Given the description of an element on the screen output the (x, y) to click on. 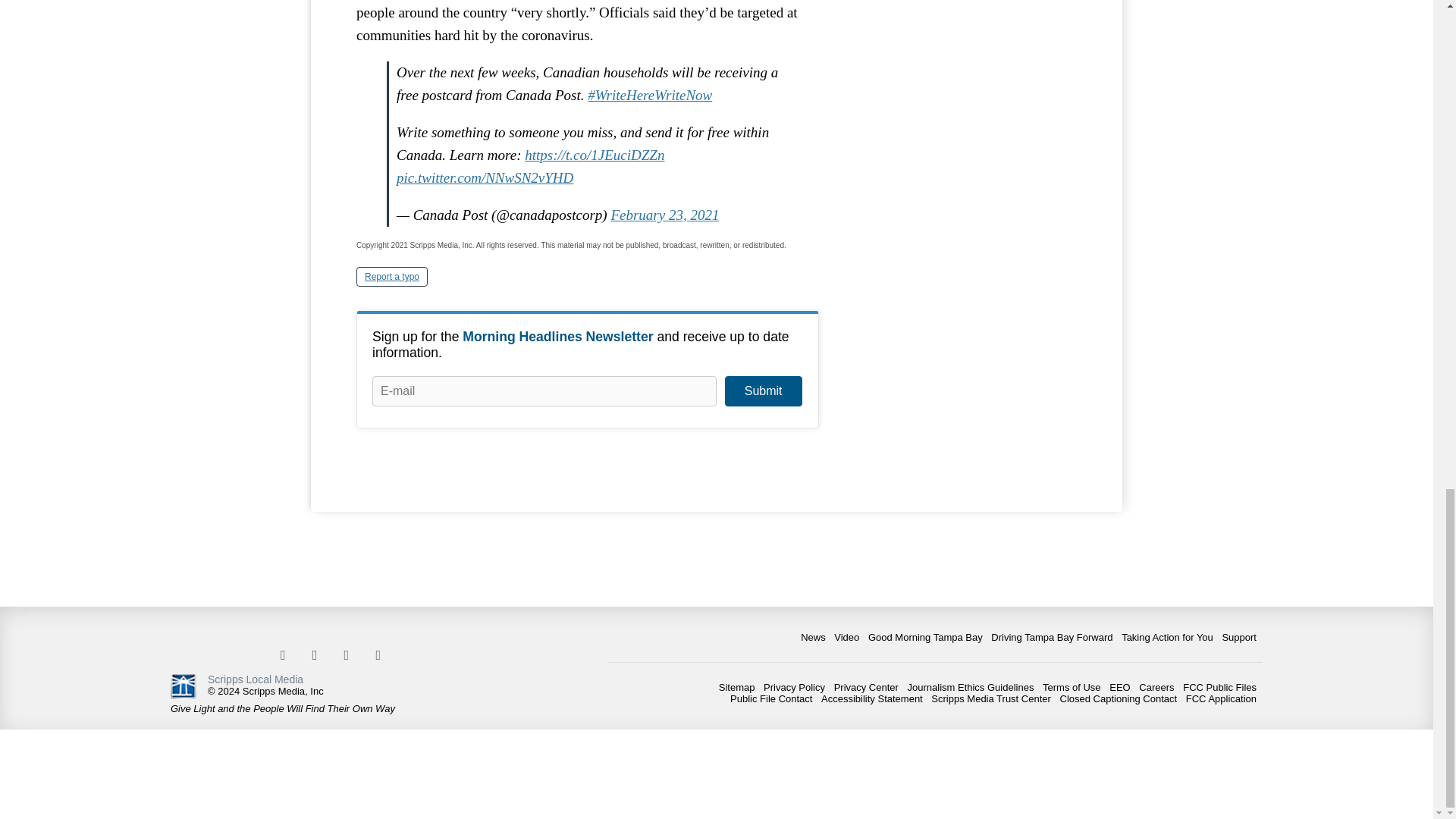
Submit (763, 390)
